Given the description of an element on the screen output the (x, y) to click on. 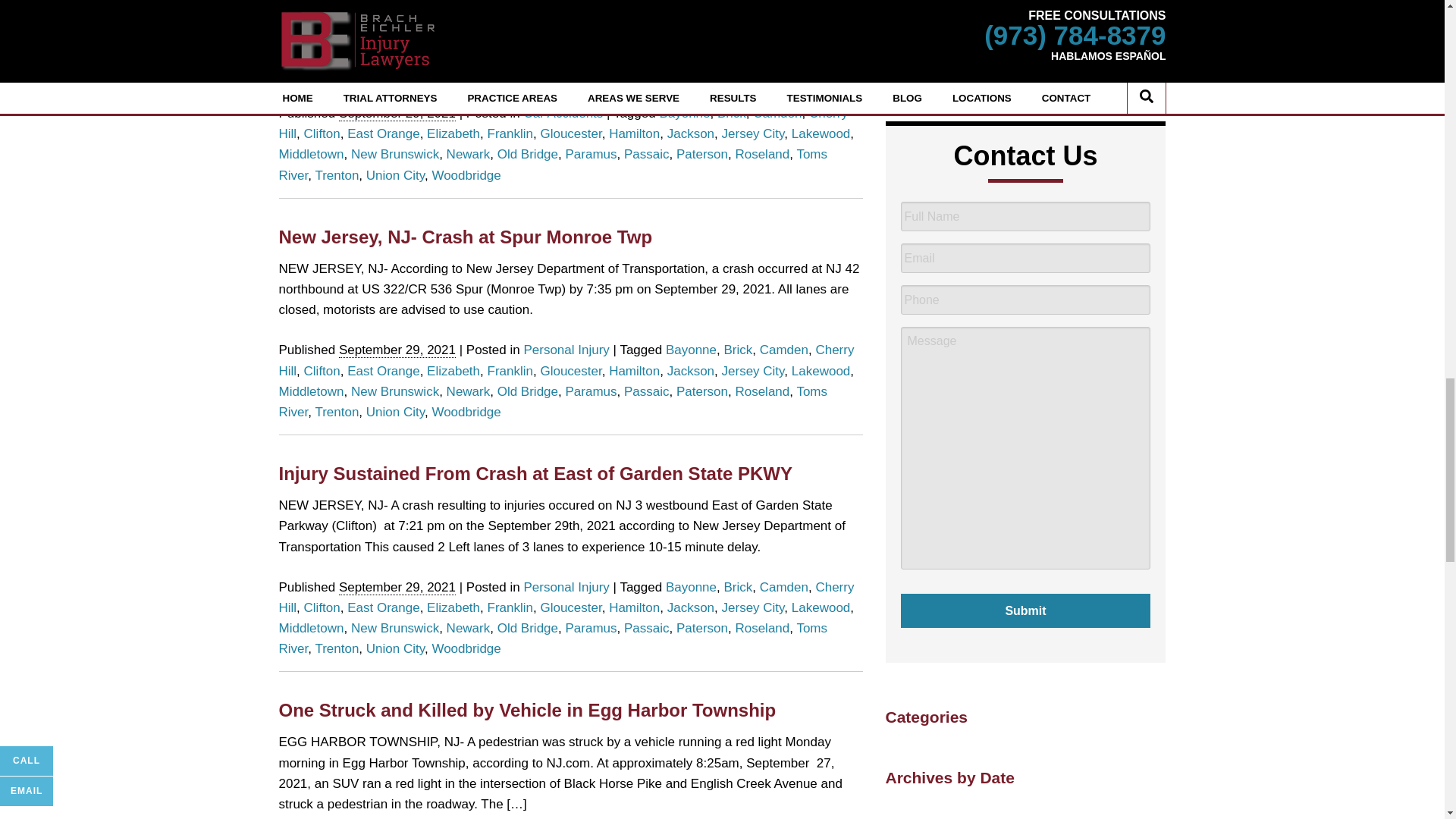
2021-09-29T23:15:38-0400 (397, 113)
Permalink to New Jersey, NJ- Crash at Spur Monroe Twp (465, 236)
2021-09-29T19:55:33-0400 (397, 350)
2021-09-29T19:38:13-0400 (397, 587)
